Given the description of an element on the screen output the (x, y) to click on. 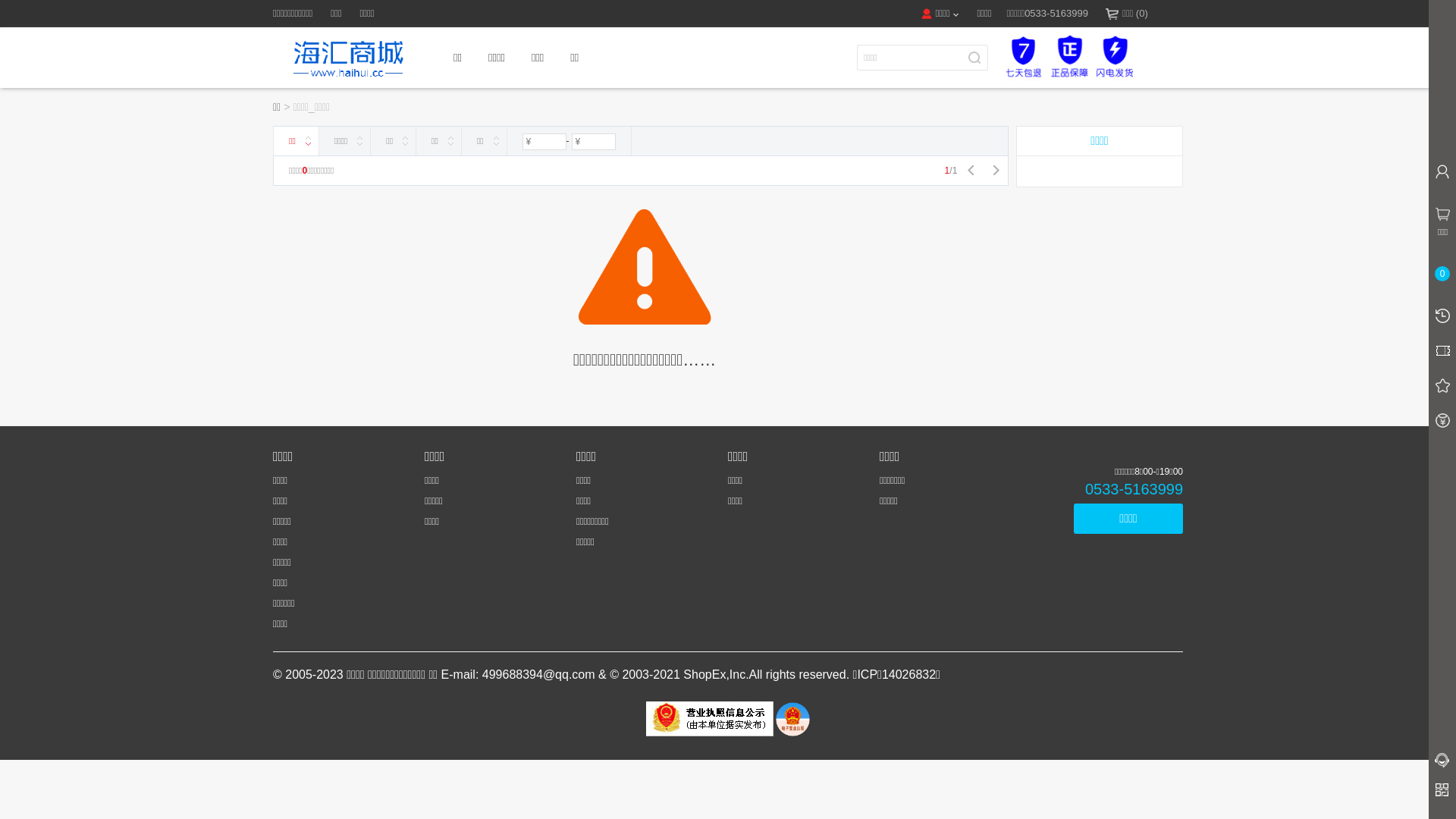
0533-5163999 Element type: text (1107, 489)
